Given the description of an element on the screen output the (x, y) to click on. 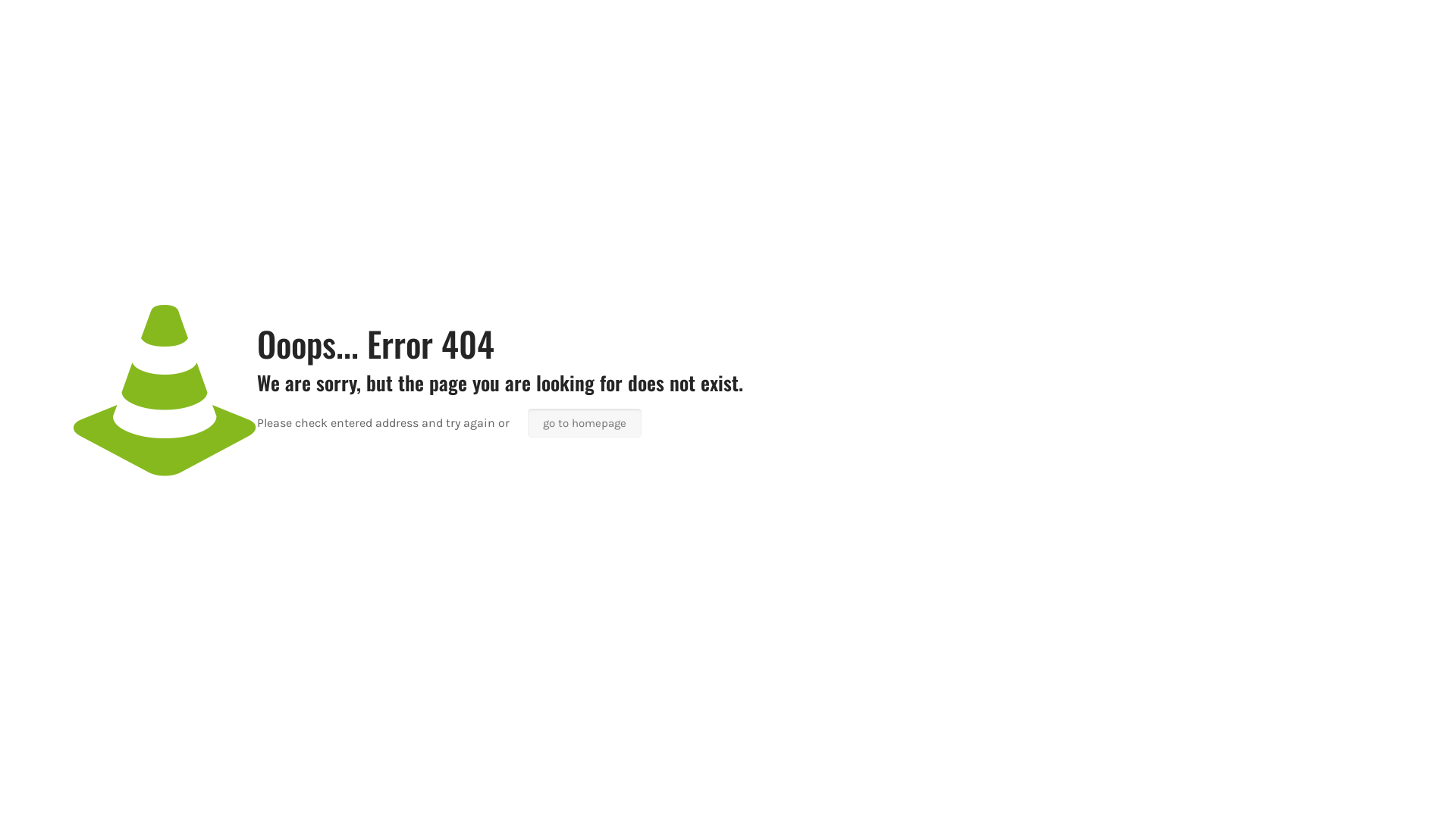
go to homepage Element type: text (584, 422)
